Given the description of an element on the screen output the (x, y) to click on. 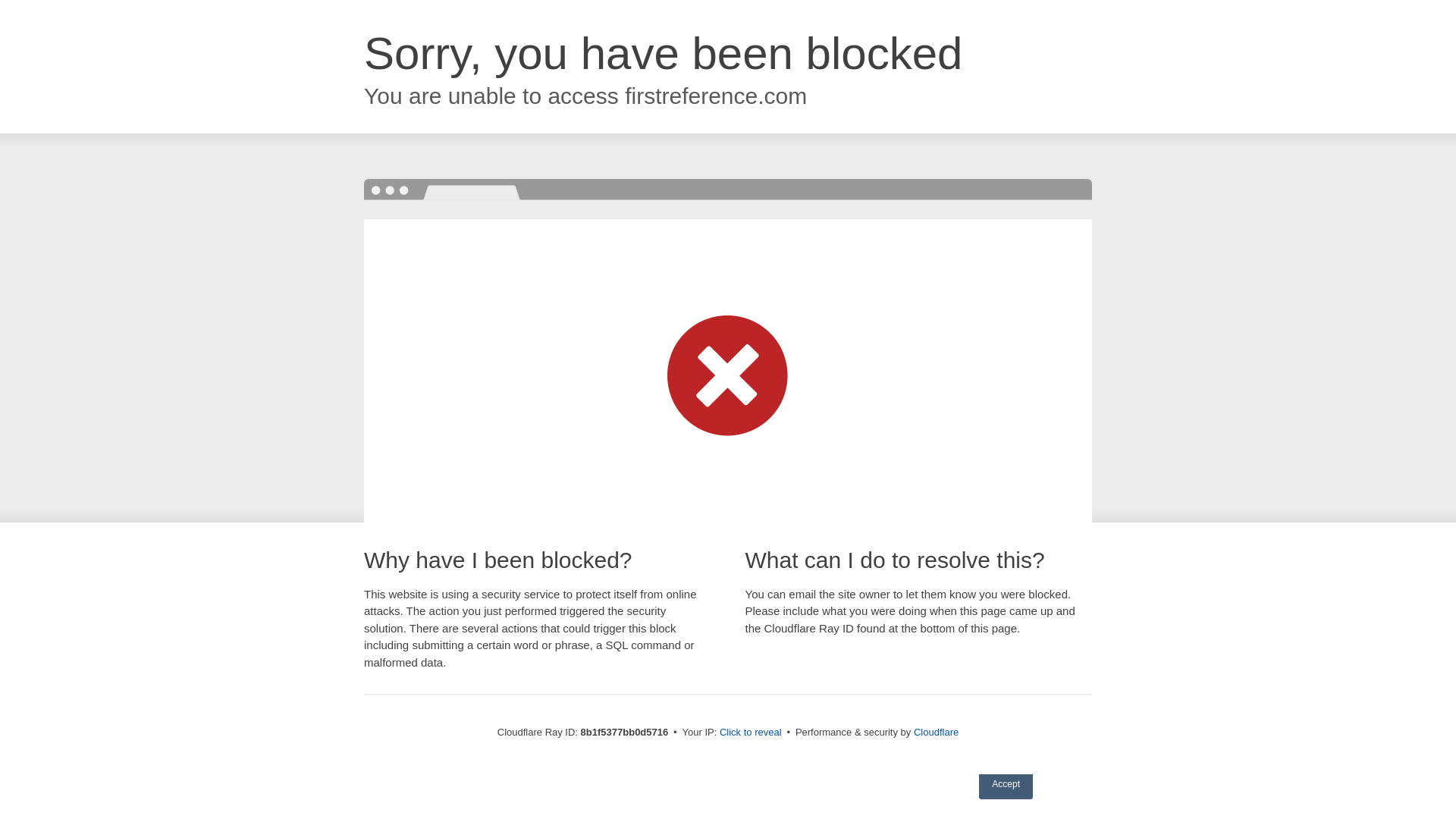
Privacy Policy. (842, 747)
Click to reveal (750, 732)
Cloudflare (936, 731)
